Given the description of an element on the screen output the (x, y) to click on. 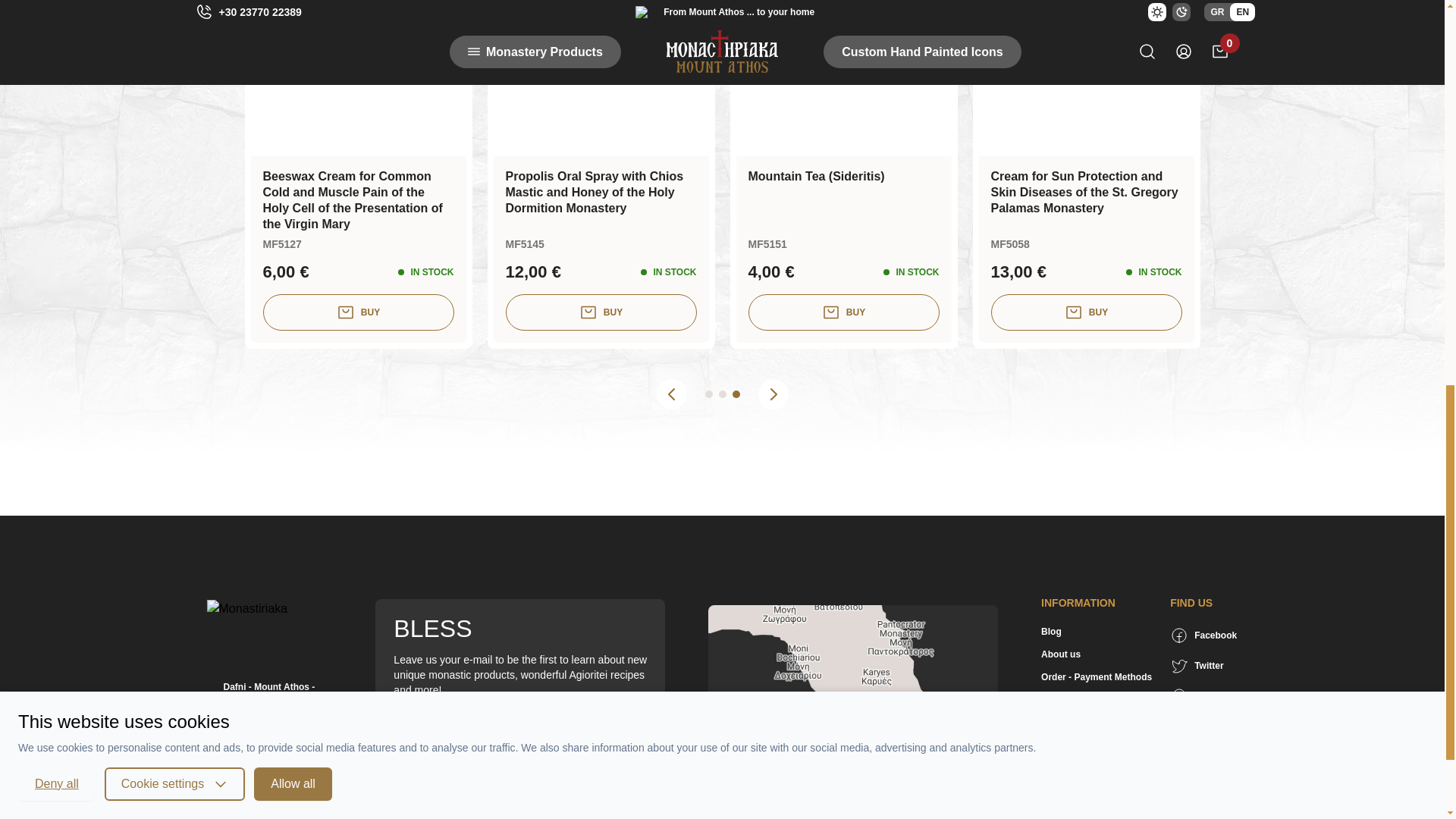
on (402, 785)
